Given the description of an element on the screen output the (x, y) to click on. 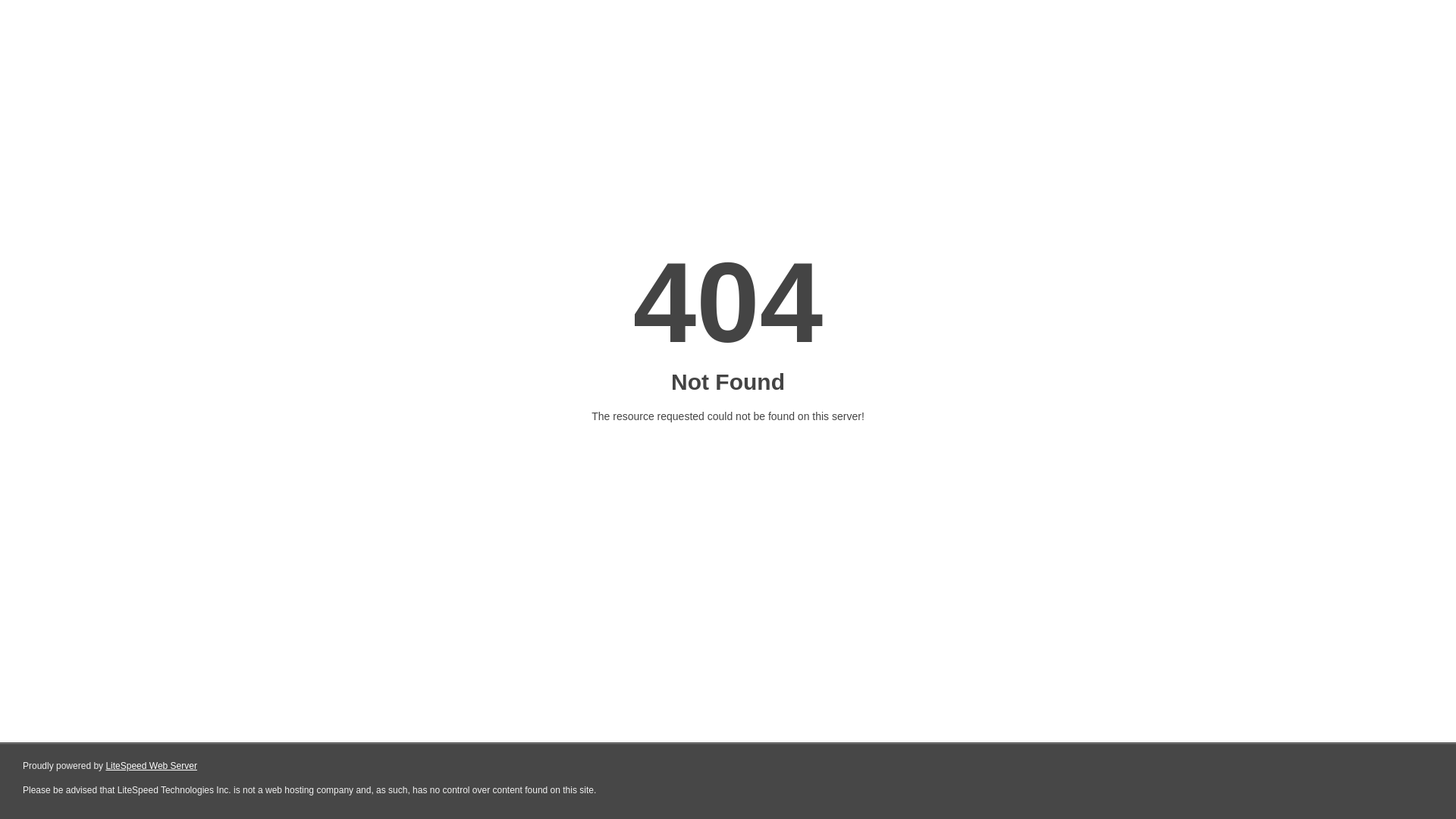
LiteSpeed Web Server Element type: text (151, 765)
